Given the description of an element on the screen output the (x, y) to click on. 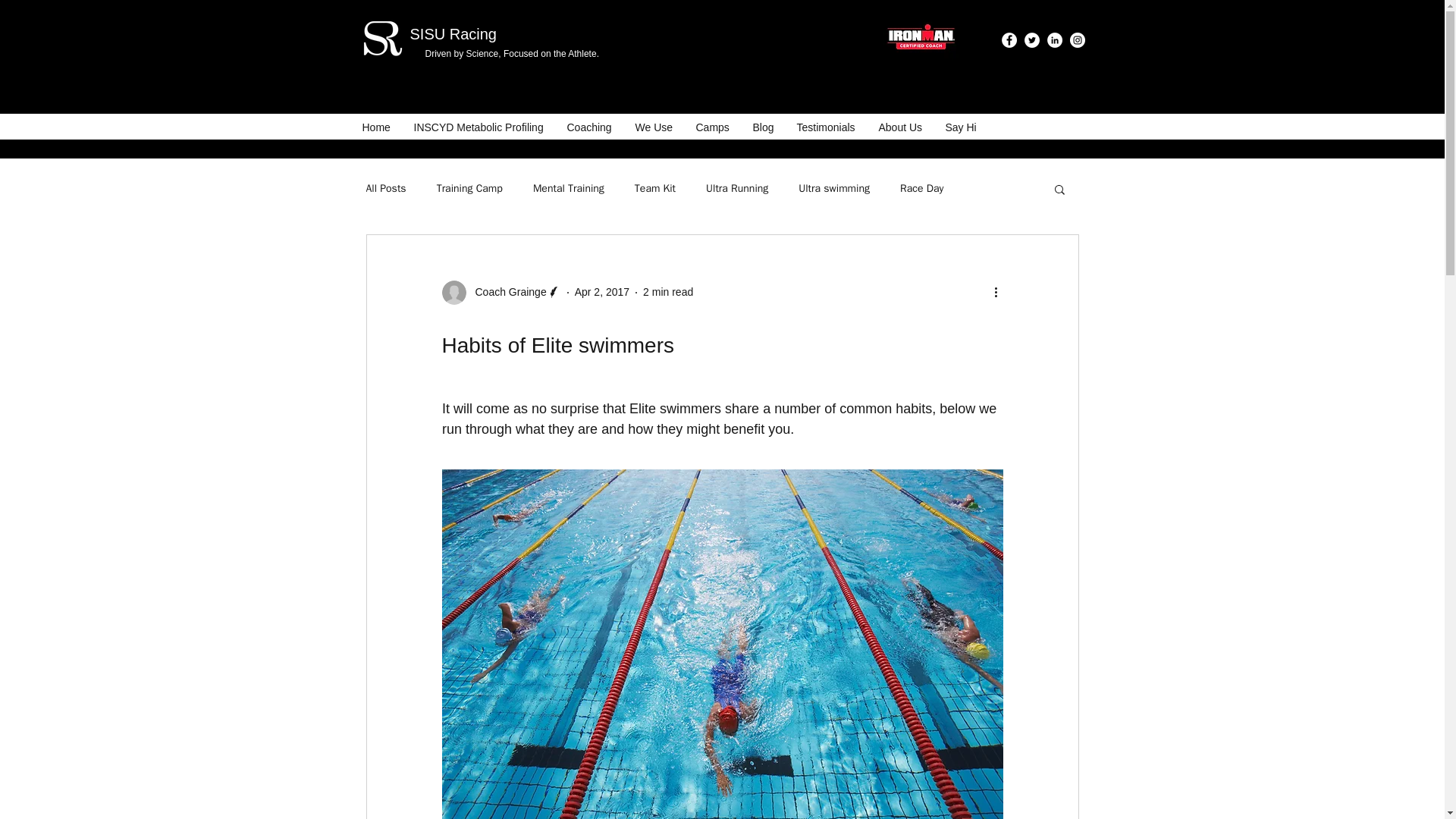
We Use (653, 127)
Mental Training (568, 188)
Say Hi (961, 127)
Ultra swimming (833, 188)
Blog (763, 127)
Ultra Running (737, 188)
Coaching (588, 127)
Race Day (921, 188)
Training Camp (469, 188)
Camps (712, 127)
